Given the description of an element on the screen output the (x, y) to click on. 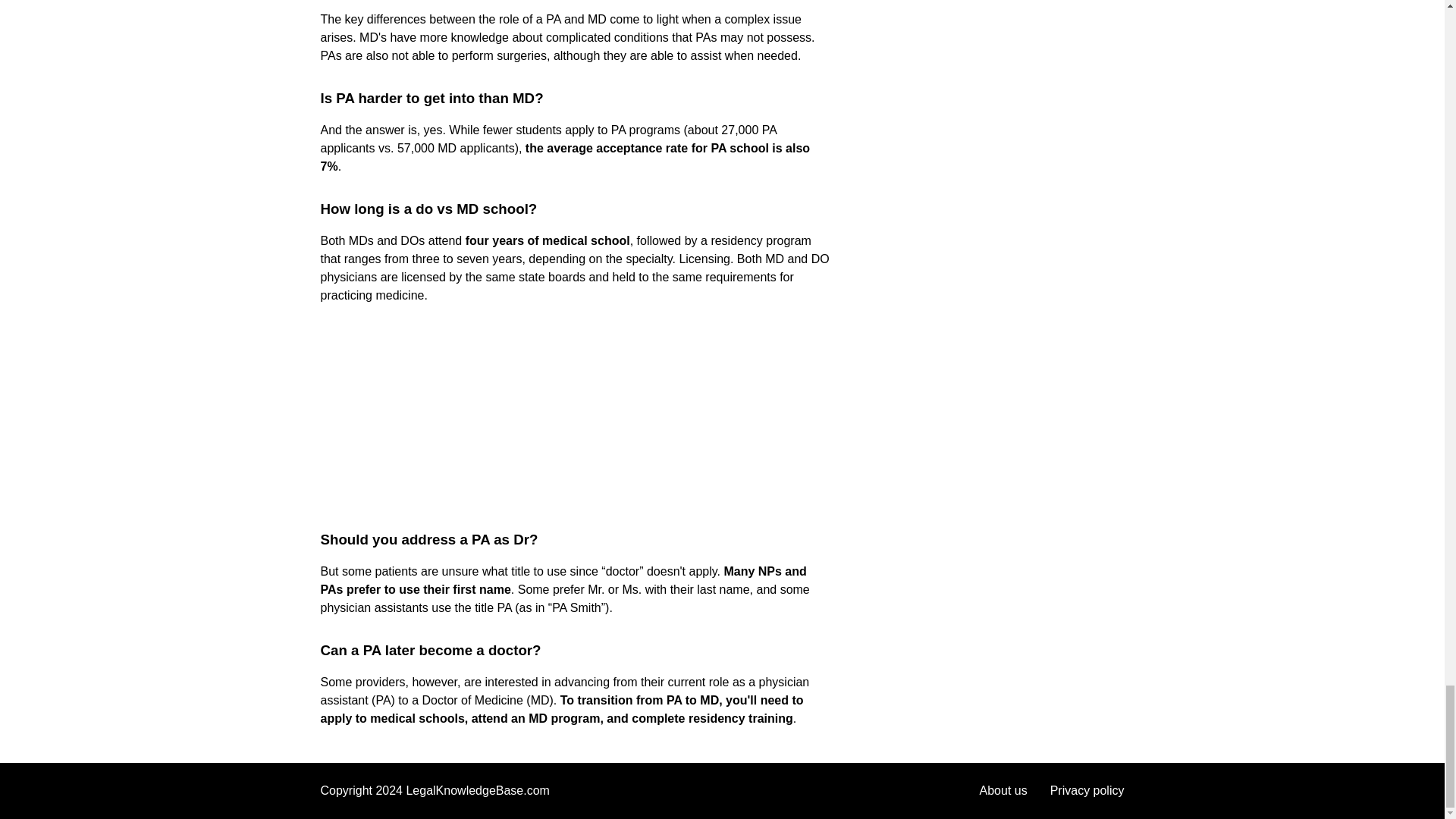
Privacy policy (1086, 790)
About us (1003, 790)
